Given the description of an element on the screen output the (x, y) to click on. 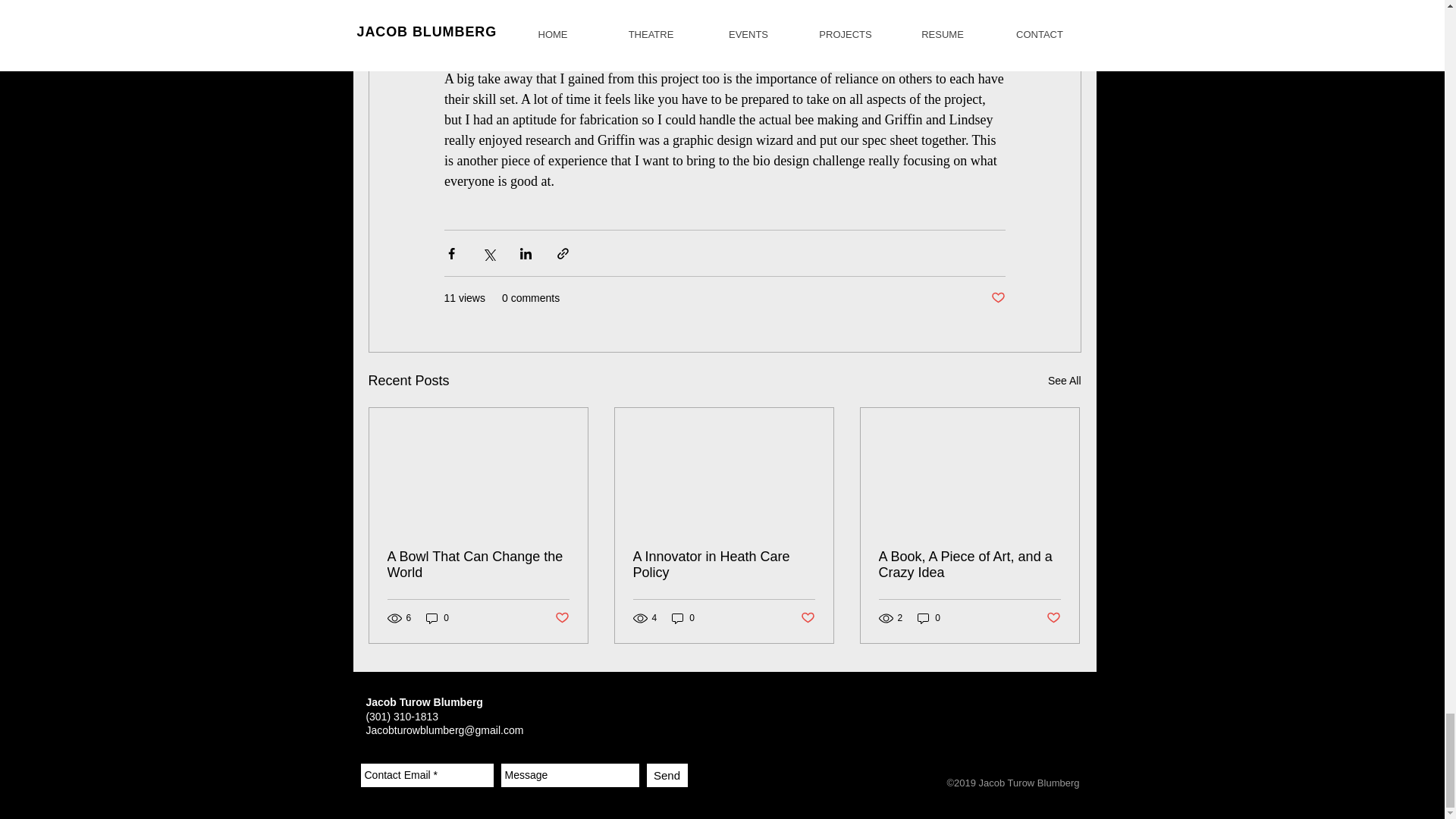
See All (1064, 381)
Post not marked as liked (561, 618)
Send (666, 775)
Post not marked as liked (997, 298)
0 (437, 617)
A Book, A Piece of Art, and a Crazy Idea (968, 564)
0 (682, 617)
A Bowl That Can Change the World (478, 564)
A Innovator in Heath Care Policy (722, 564)
0 (928, 617)
